Given the description of an element on the screen output the (x, y) to click on. 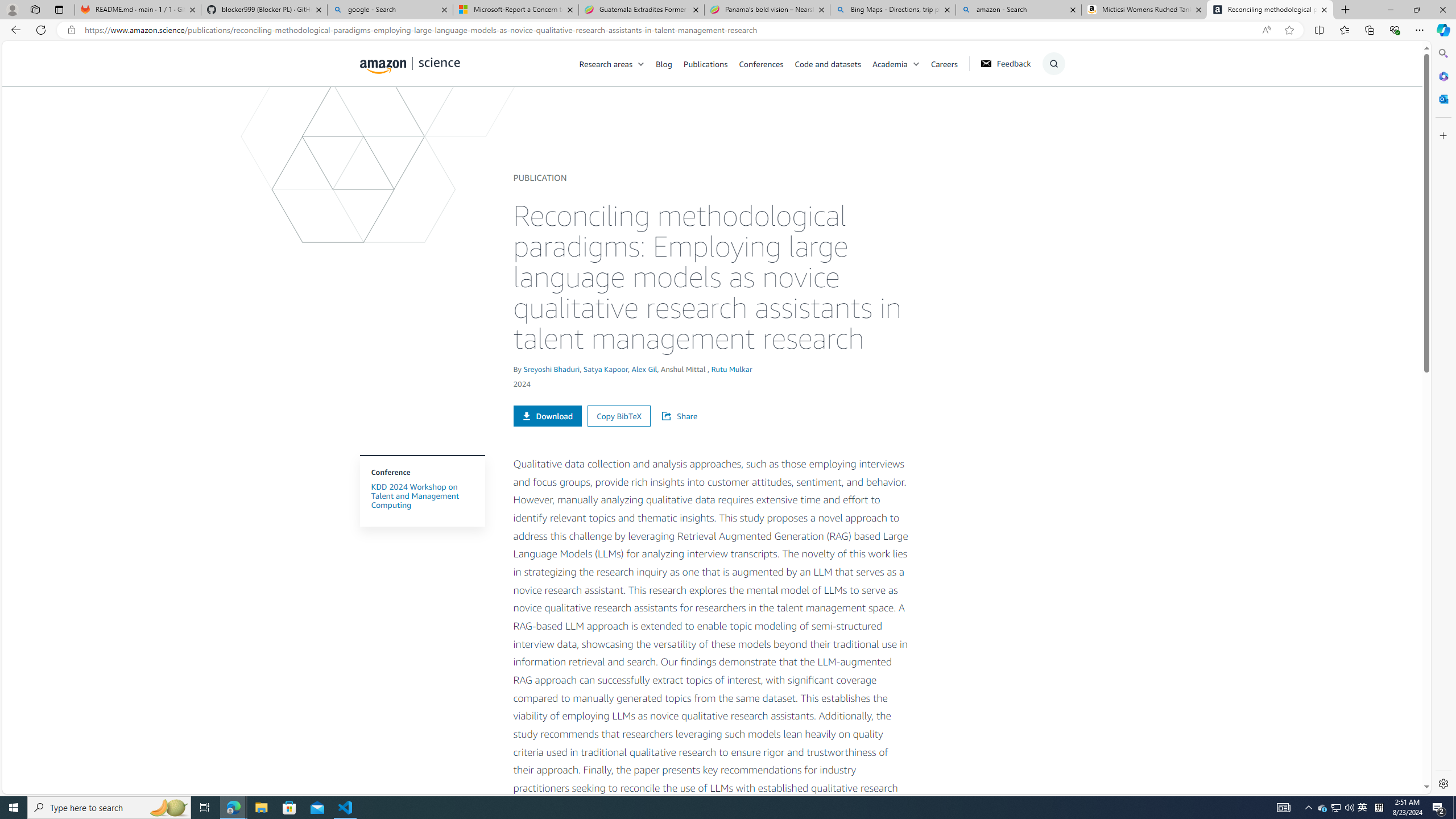
KDD 2024 Workshop on Talent and Management Computing (422, 495)
Careers (944, 63)
Copy BibTeX (618, 415)
Open Sub Navigation (916, 63)
Publications (705, 63)
